Given the description of an element on the screen output the (x, y) to click on. 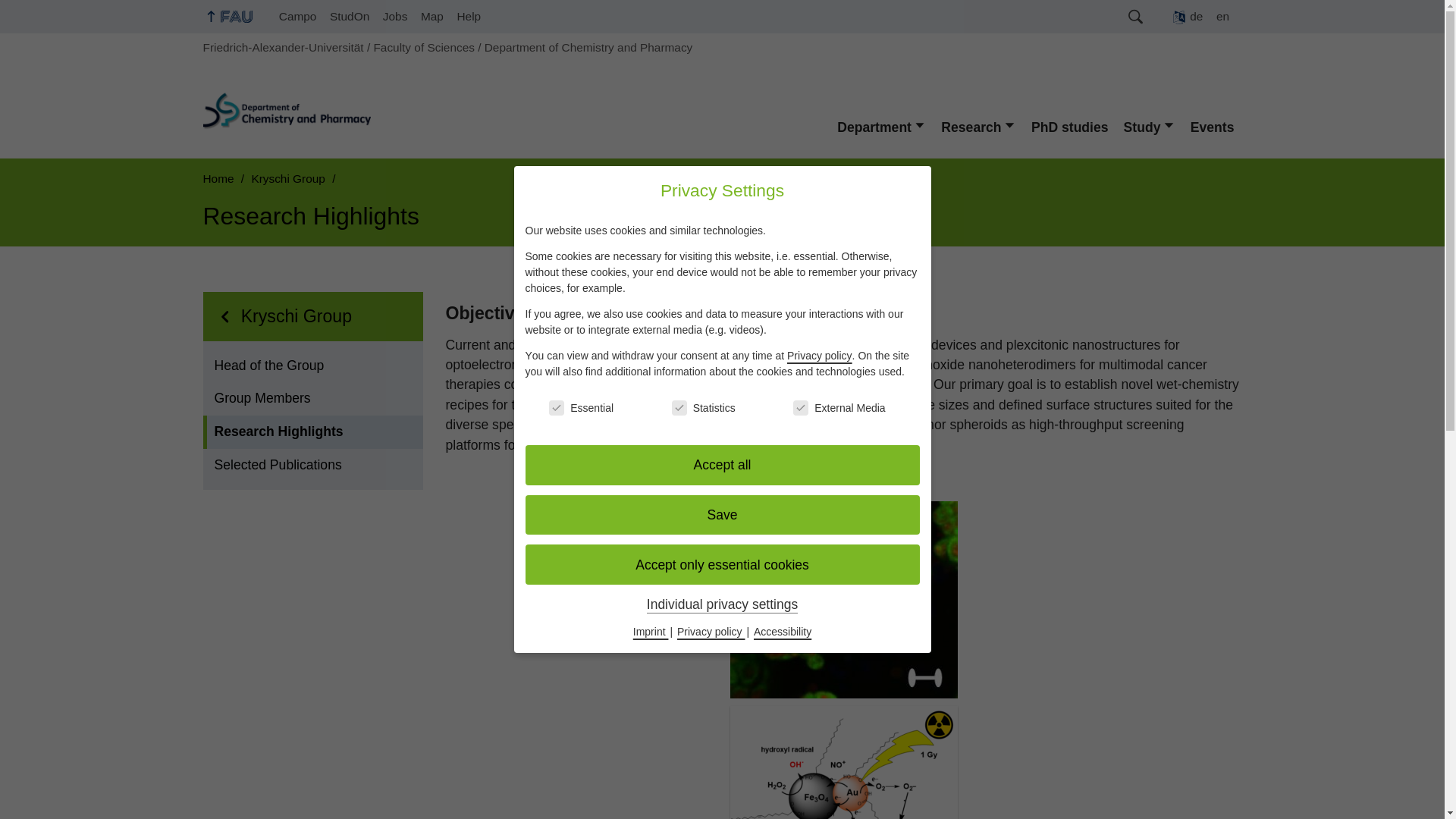
Department (881, 126)
Department of Chemistry and Pharmacy (588, 47)
Research (978, 126)
Jobs (394, 16)
Campo (297, 16)
PhD studies (1069, 126)
Faculty of Sciences (423, 47)
StudOn (349, 16)
Map (431, 16)
